Given the description of an element on the screen output the (x, y) to click on. 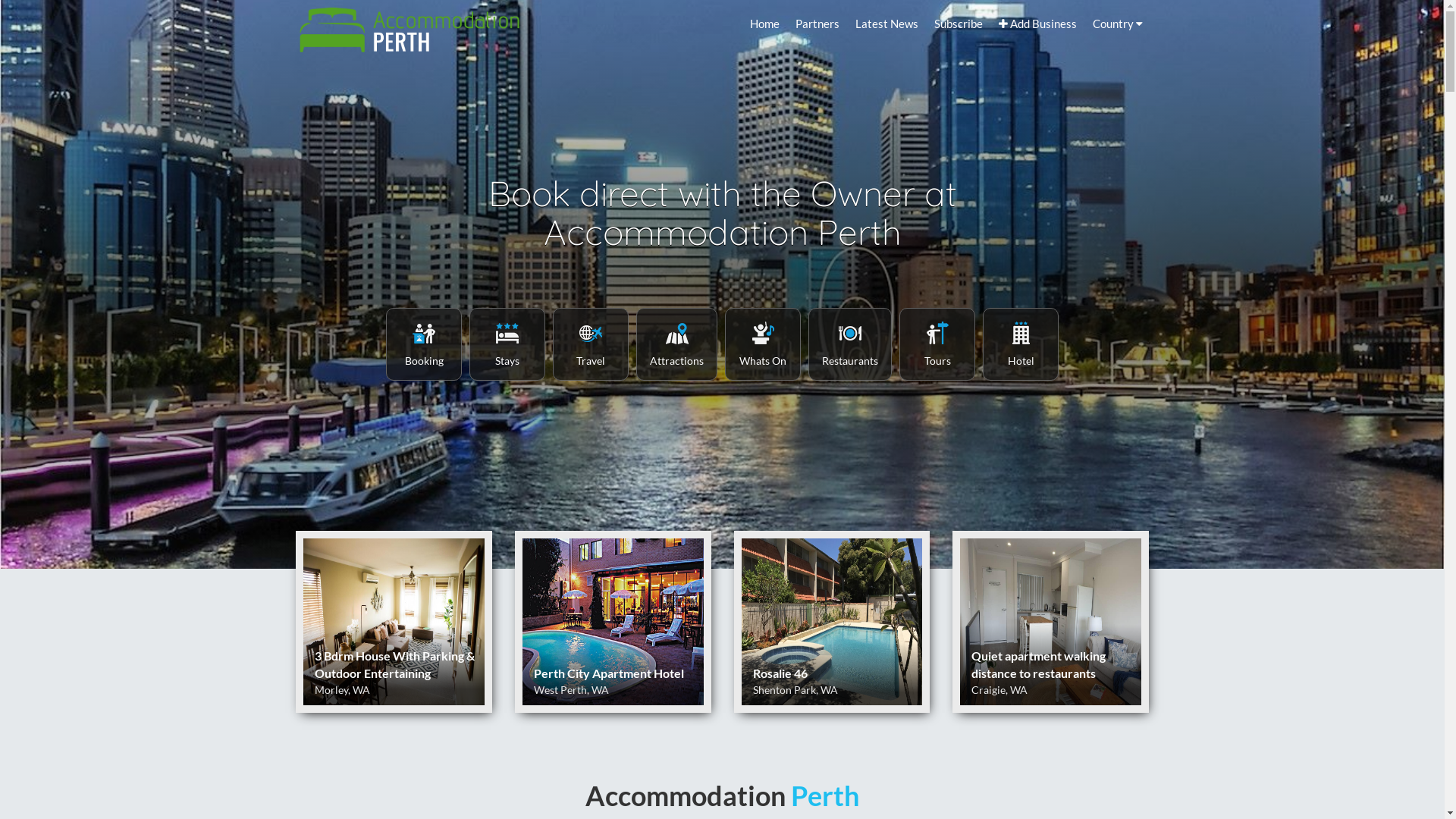
Tours Accommodation Perth Element type: hover (937, 343)
Partners Element type: text (817, 23)
Whats On Accommodation Perth Element type: hover (762, 343)
Perth City Apartment Hotel
West Perth, WA Element type: text (612, 621)
Rosalie 46
Shenton Park, WA Element type: text (832, 621)
Travel Accommodation Perth Element type: hover (590, 343)
Add Business Element type: text (1037, 23)
3 Bdrm House With Parking & Outdoor Entertaining
Morley, WA Element type: text (393, 621)
Attractions Accommodation Perth Element type: hover (676, 343)
Country Element type: text (1117, 23)
Stays Accommodation Perth Element type: hover (507, 343)
Latest News Element type: text (886, 23)
Subscribe Element type: text (958, 23)
Hotel Accommodation Perth Element type: hover (1020, 343)
Restaurants Accommodation Perth Element type: hover (850, 343)
Accommodation Perth Home Page Element type: hover (409, 25)
Booking Accommodation Perth Element type: hover (423, 343)
Home Element type: text (764, 23)
Quiet apartment walking distance to restaurants
Craigie, WA Element type: text (1050, 621)
